Given the description of an element on the screen output the (x, y) to click on. 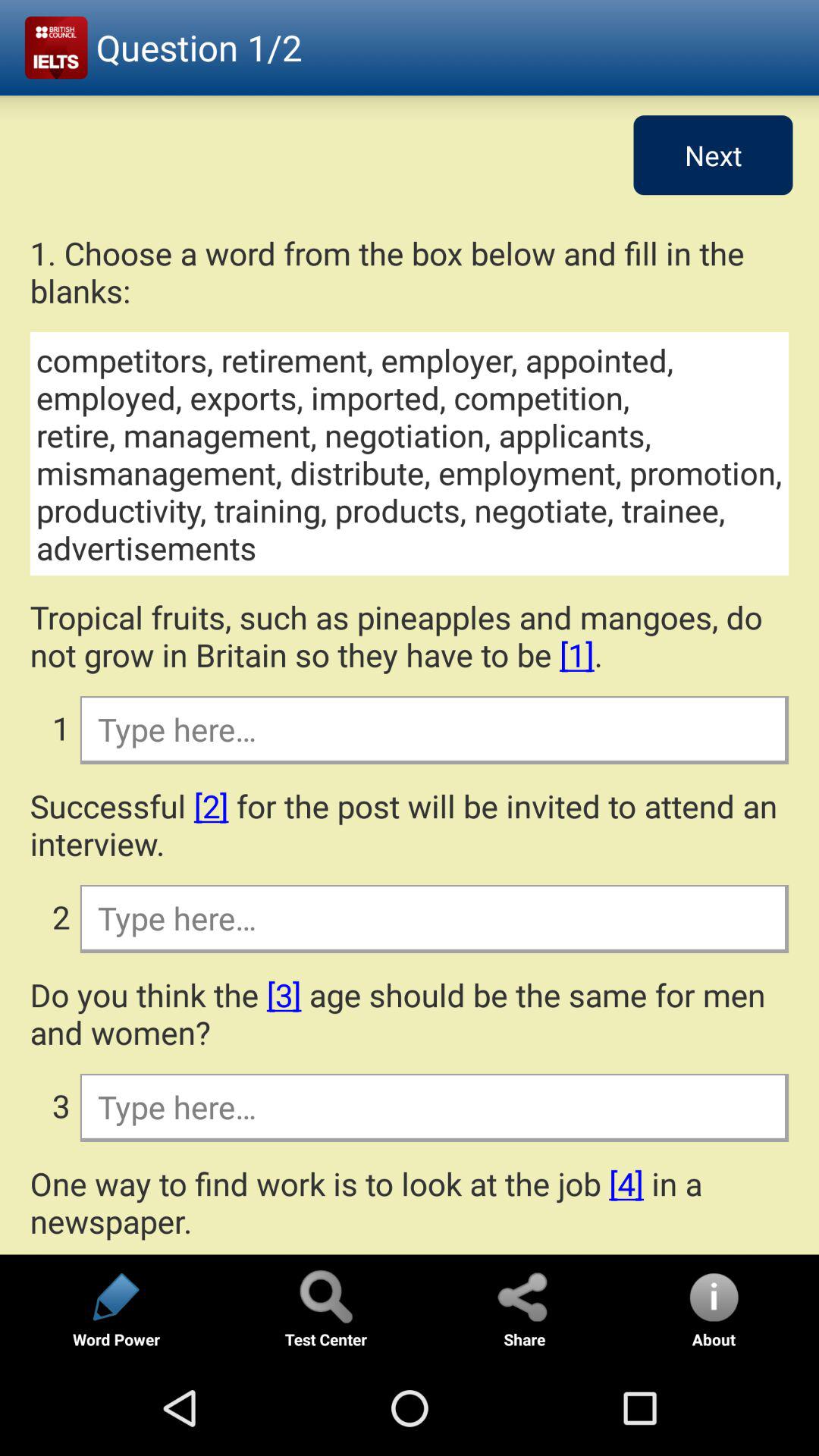
click competitors retirement employer icon (409, 453)
